Given the description of an element on the screen output the (x, y) to click on. 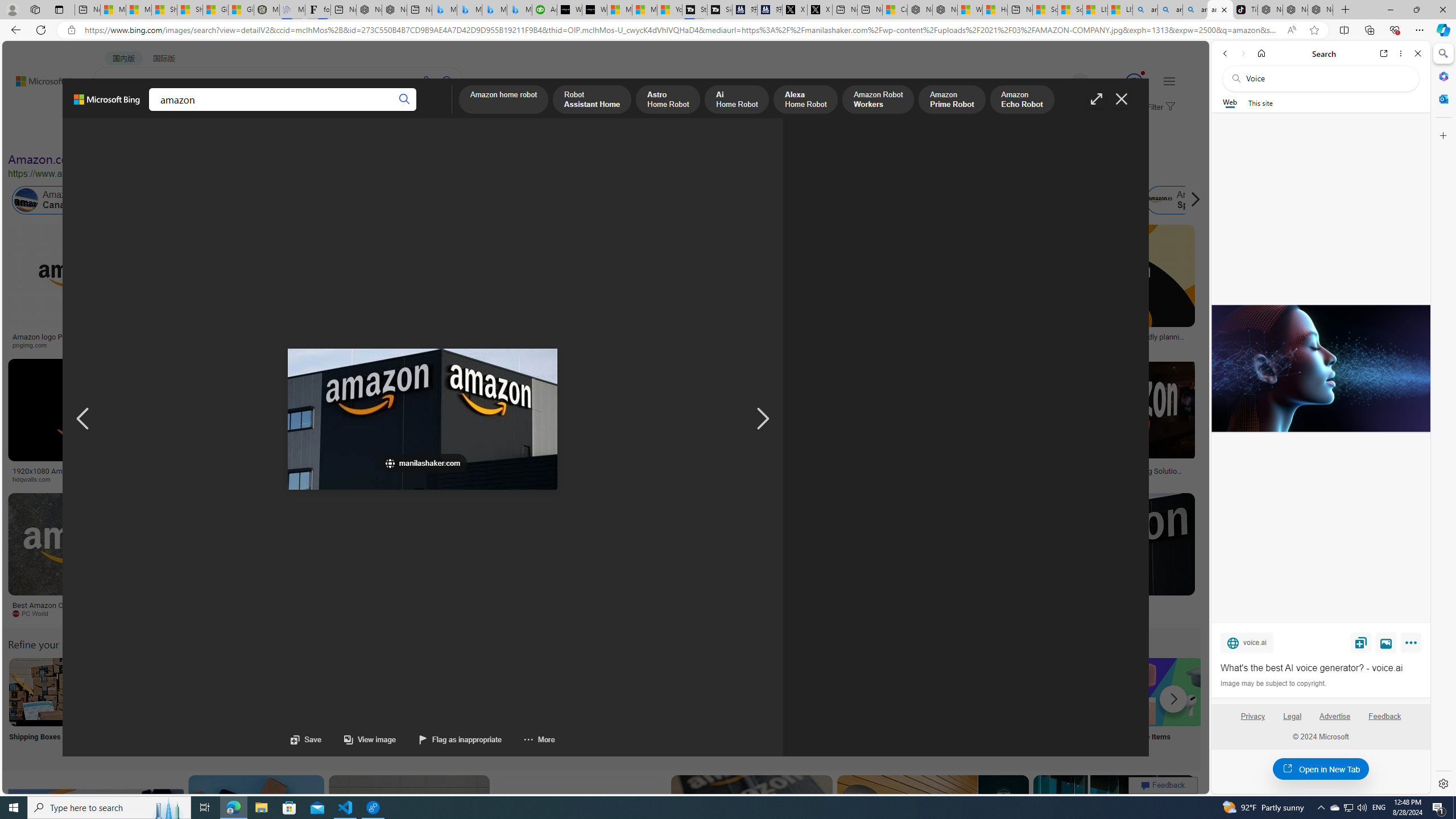
Amazon Echo Robot (1022, 100)
Sign My Account (718, 706)
The Verge (237, 613)
Amazon Logo (PNG e SVG) Download Vetorial Transparente (783, 340)
Prime Label (1018, 706)
What's the best AI voice generator? - voice.ai (1320, 667)
Microsoft Bing Travel - Stays in Bangkok, Bangkok, Thailand (469, 9)
PC World (34, 612)
Long Island Press (628, 479)
VIDEOS (260, 111)
Amazon Prime Membership (801, 199)
